Given the description of an element on the screen output the (x, y) to click on. 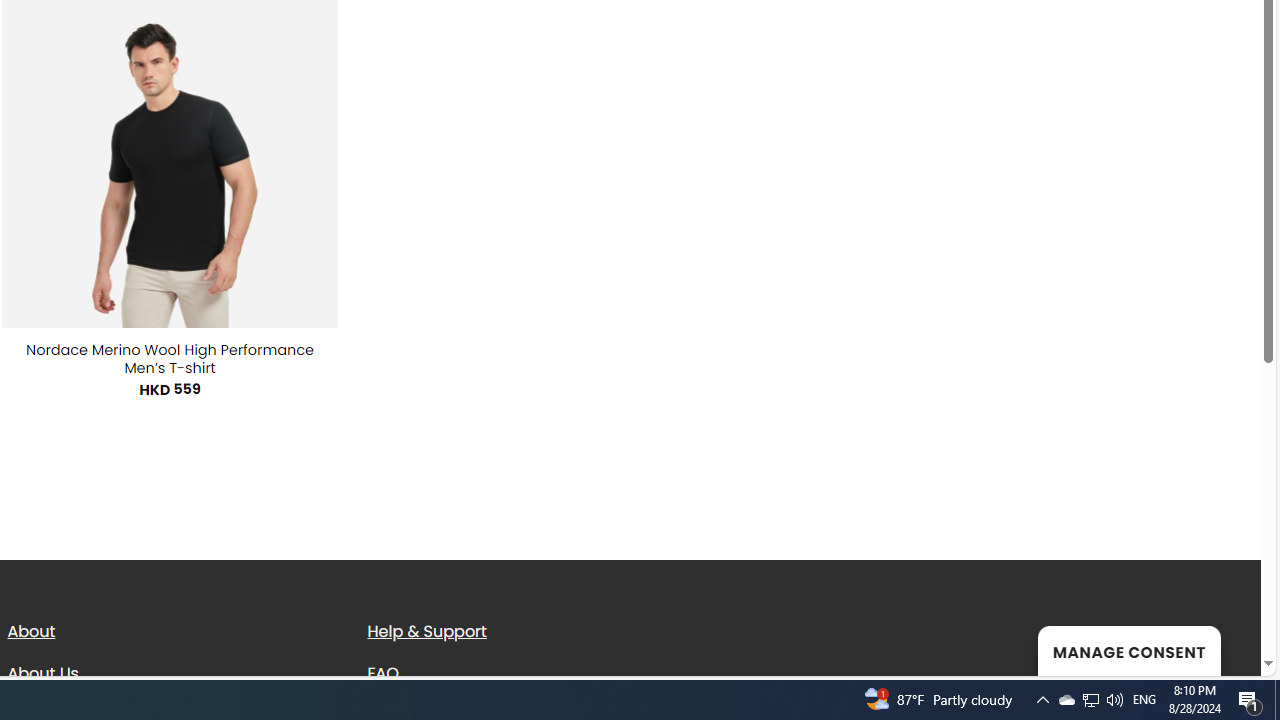
FAQ (383, 672)
Go to top (1220, 647)
About Us (171, 673)
FAQ (532, 673)
MANAGE CONSENT (1128, 650)
About Us (42, 672)
